Given the description of an element on the screen output the (x, y) to click on. 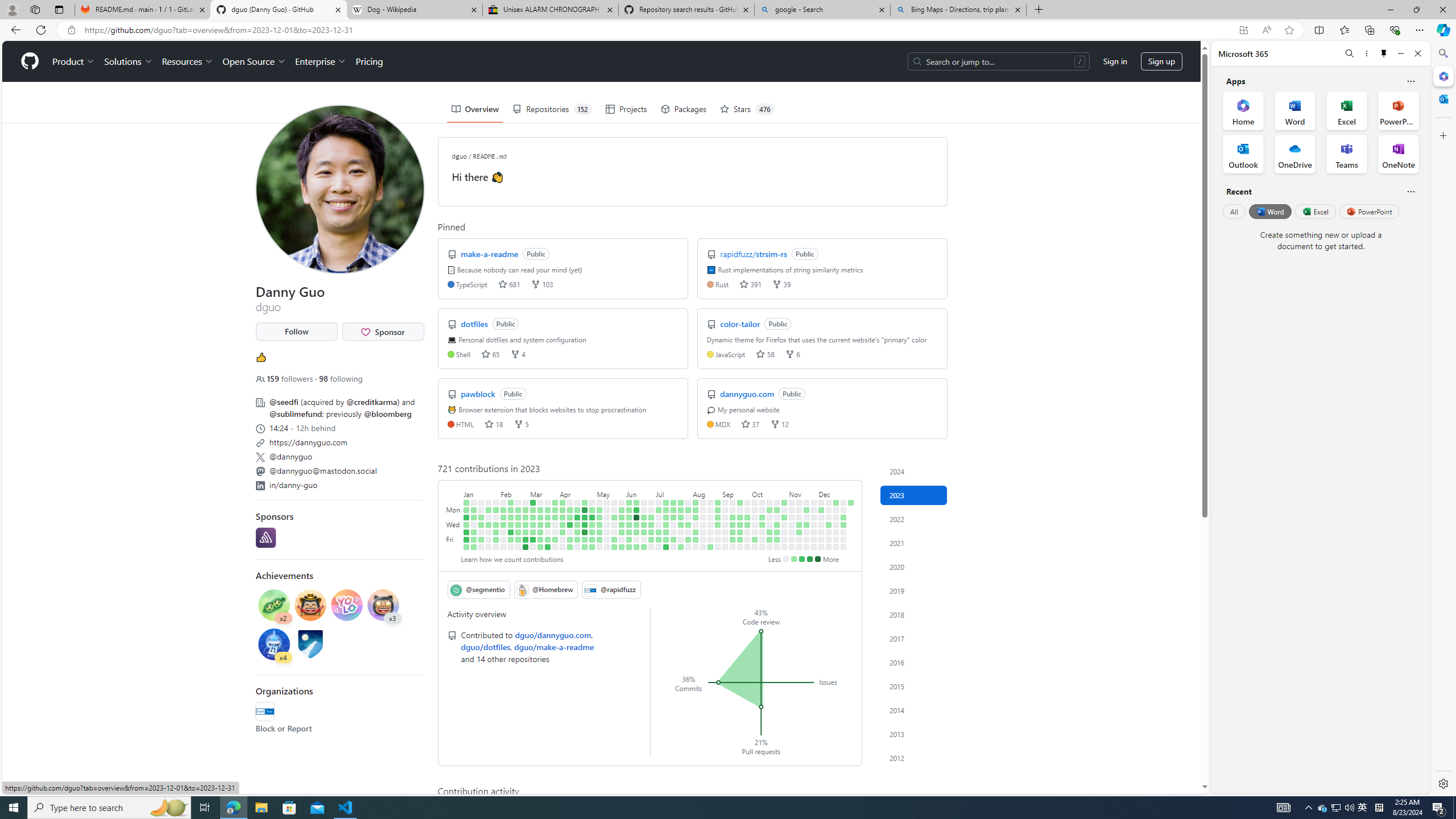
December (836, 492)
No contributions on August 23rd. (710, 524)
Repositories 152 (552, 108)
3 contributions on August 7th. (695, 509)
3 contributions on February 13th. (510, 509)
No contributions on March 23rd. (547, 531)
google - Search (822, 9)
No contributions on April 13th. (569, 531)
Open Source (254, 60)
Monday (454, 509)
No contributions on October 17th. (770, 517)
2 contributions on August 10th. (695, 531)
No contributions on November 28th. (813, 517)
